Given the description of an element on the screen output the (x, y) to click on. 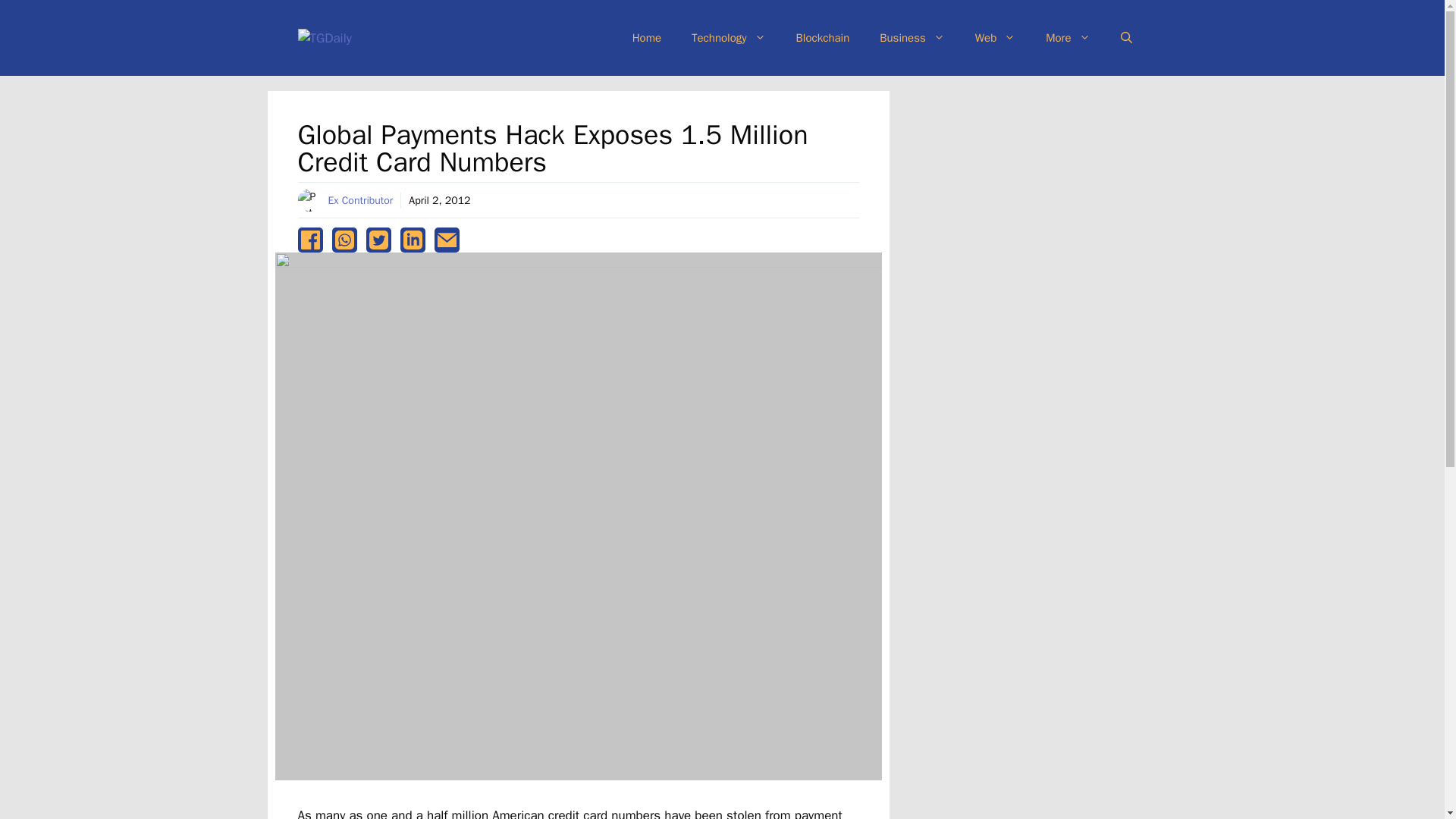
Technology (728, 37)
Web (994, 37)
More (1067, 37)
Home (647, 37)
Business (911, 37)
Blockchain (822, 37)
